Given the description of an element on the screen output the (x, y) to click on. 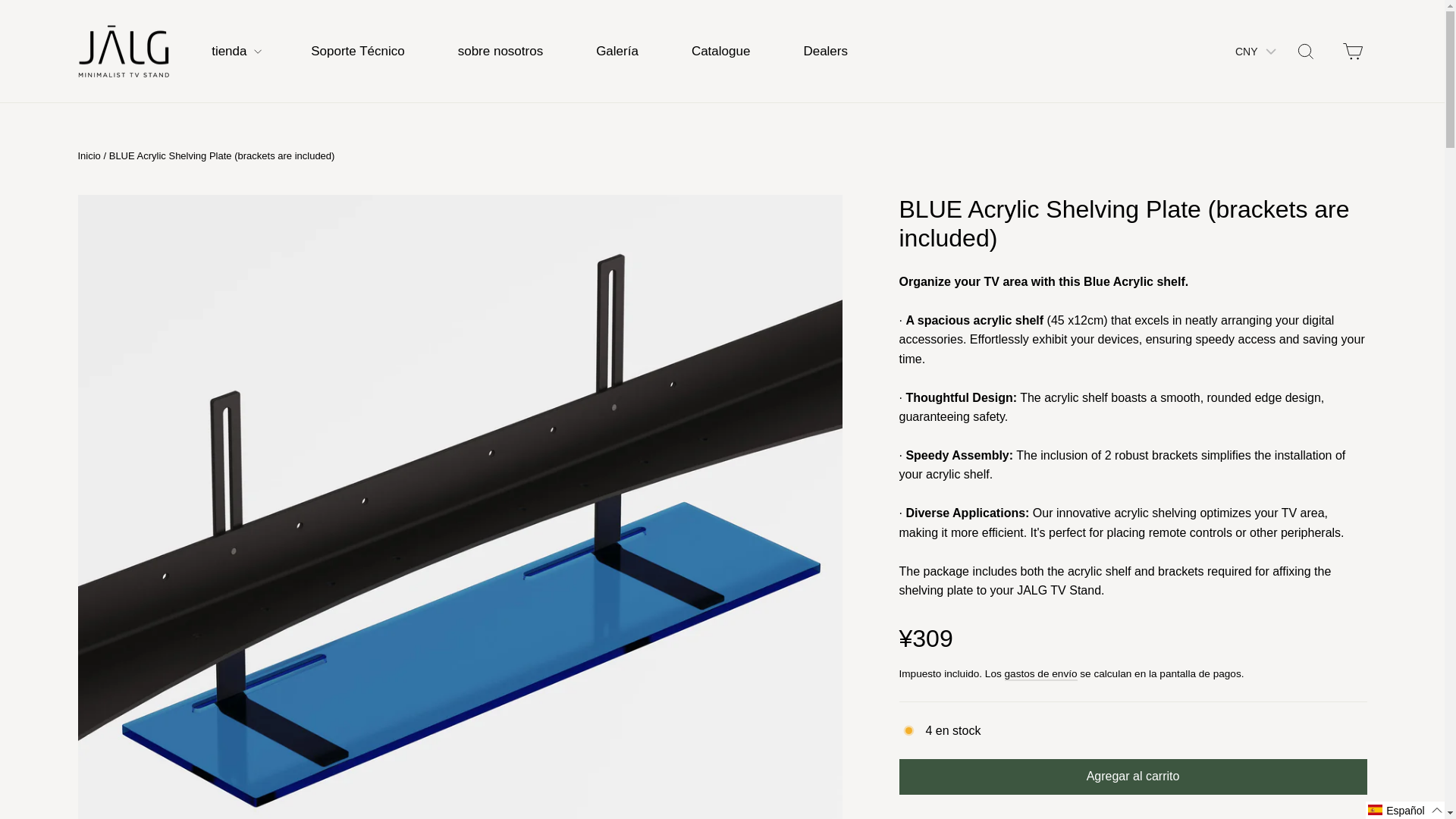
Volver a la portada (1304, 51)
icon-cart (88, 155)
sobre nosotros (1353, 51)
Catalogue (1352, 51)
icon-search (499, 50)
Dealers (721, 50)
